Given the description of an element on the screen output the (x, y) to click on. 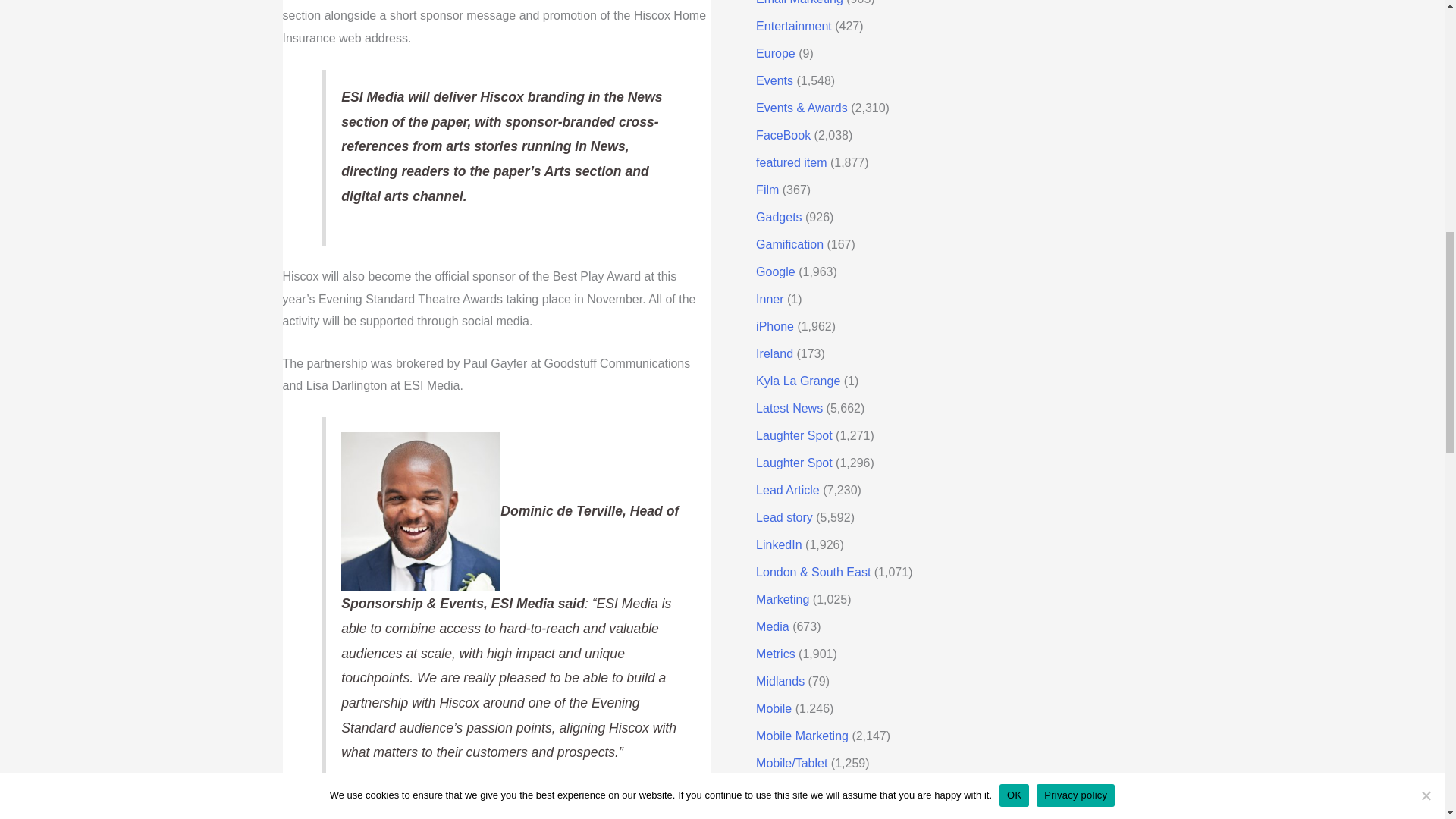
3765c39 (420, 511)
